Given the description of an element on the screen output the (x, y) to click on. 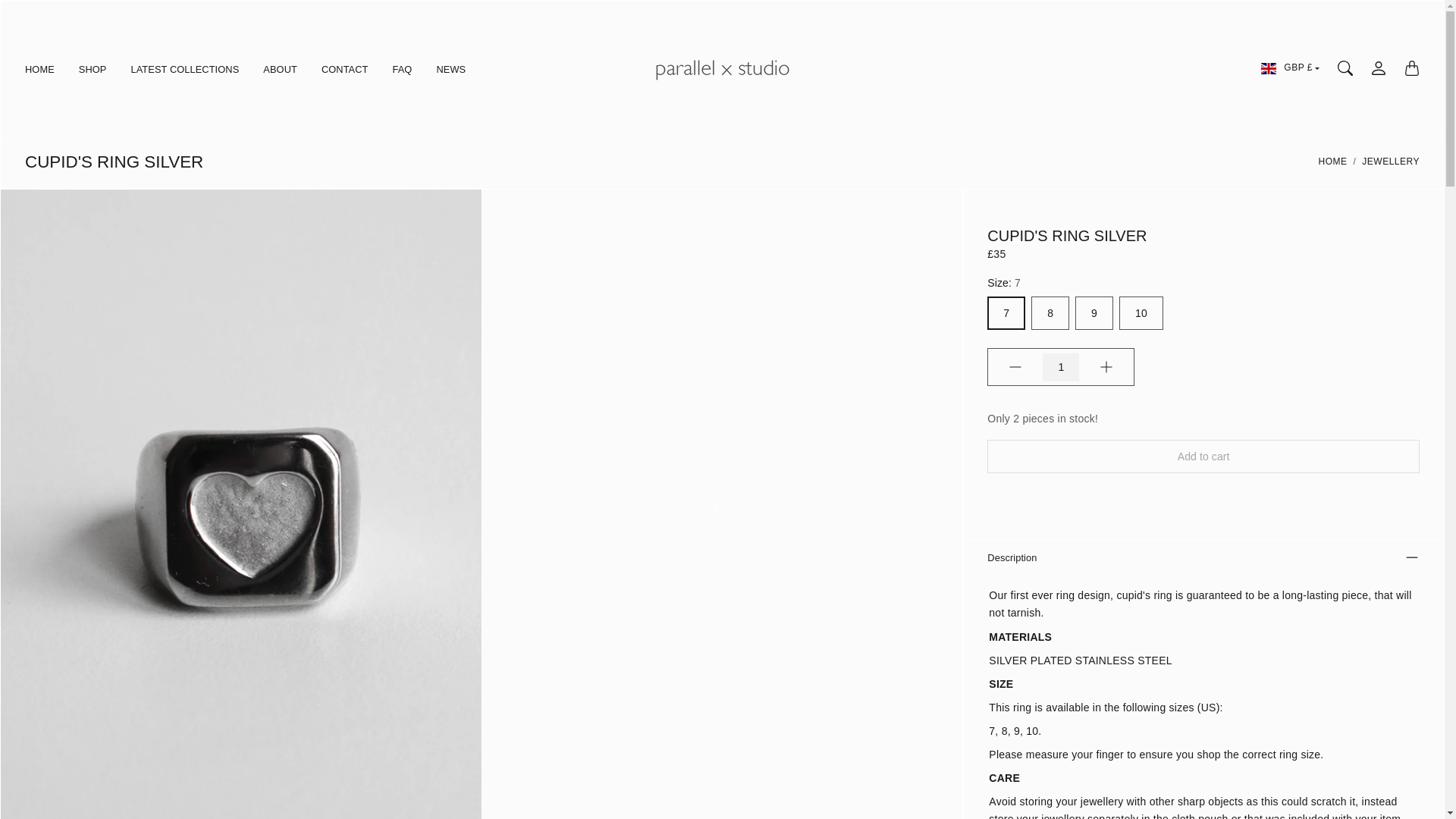
1 (1060, 366)
